Given the description of an element on the screen output the (x, y) to click on. 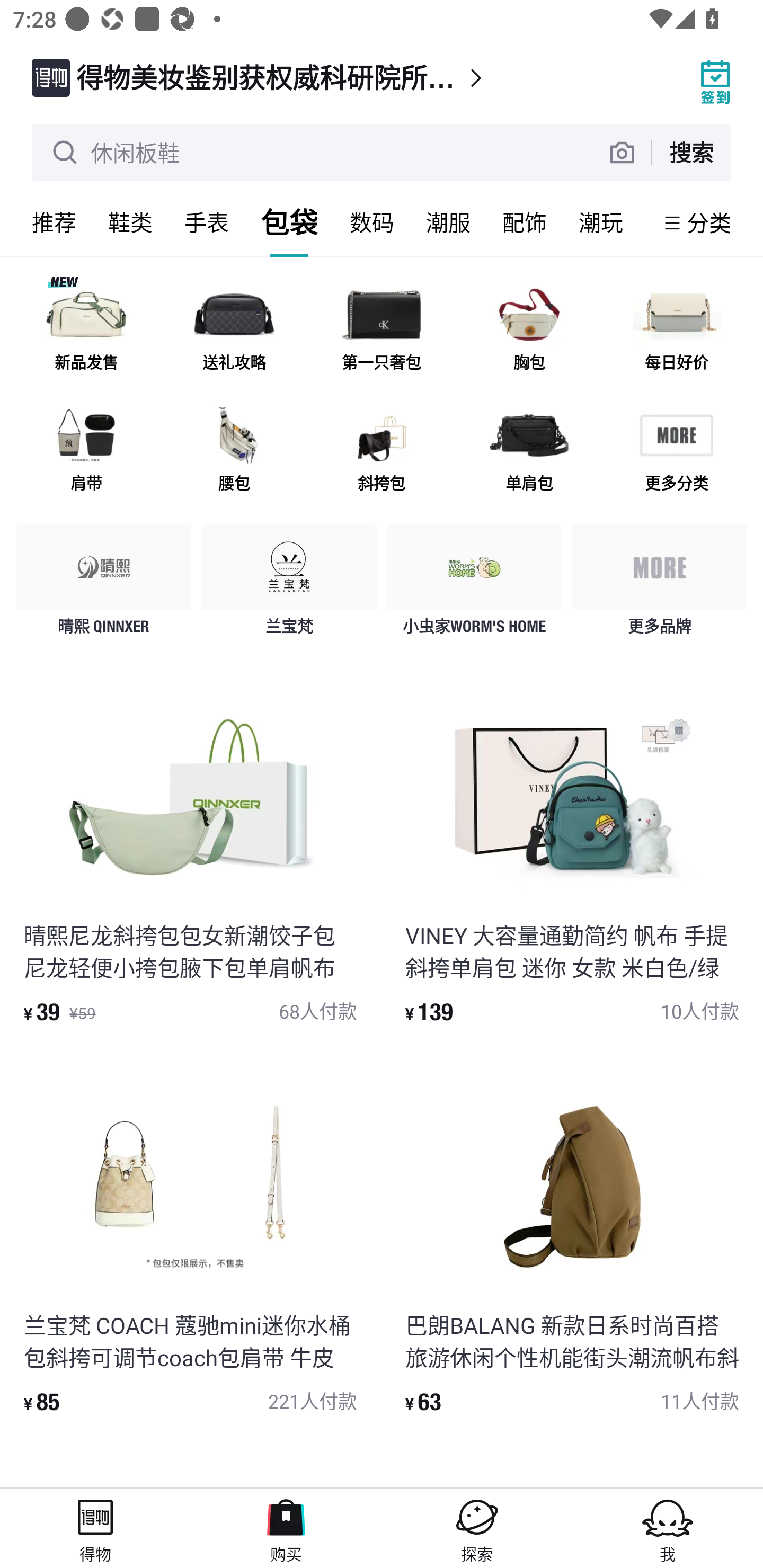
搜索 (690, 152)
推荐 (54, 222)
鞋类 (130, 222)
手表 (206, 222)
包袋 (289, 222)
数码 (372, 222)
潮服 (448, 222)
配饰 (524, 222)
潮玩 (601, 222)
分类 (708, 222)
新品发售 (86, 329)
送礼攻略 (233, 329)
第一只奢包 (381, 329)
胸包 (528, 329)
每日好价 (676, 329)
肩带 (86, 450)
腰包 (233, 450)
斜挎包 (381, 450)
单肩包 (528, 450)
更多分类 (676, 450)
晴熙 QINNXER (103, 583)
兰宝梵 (288, 583)
小虫家WORM'S HOME (473, 583)
更多品牌 (658, 583)
得物 (95, 1528)
购买 (285, 1528)
探索 (476, 1528)
我 (667, 1528)
